Given the description of an element on the screen output the (x, y) to click on. 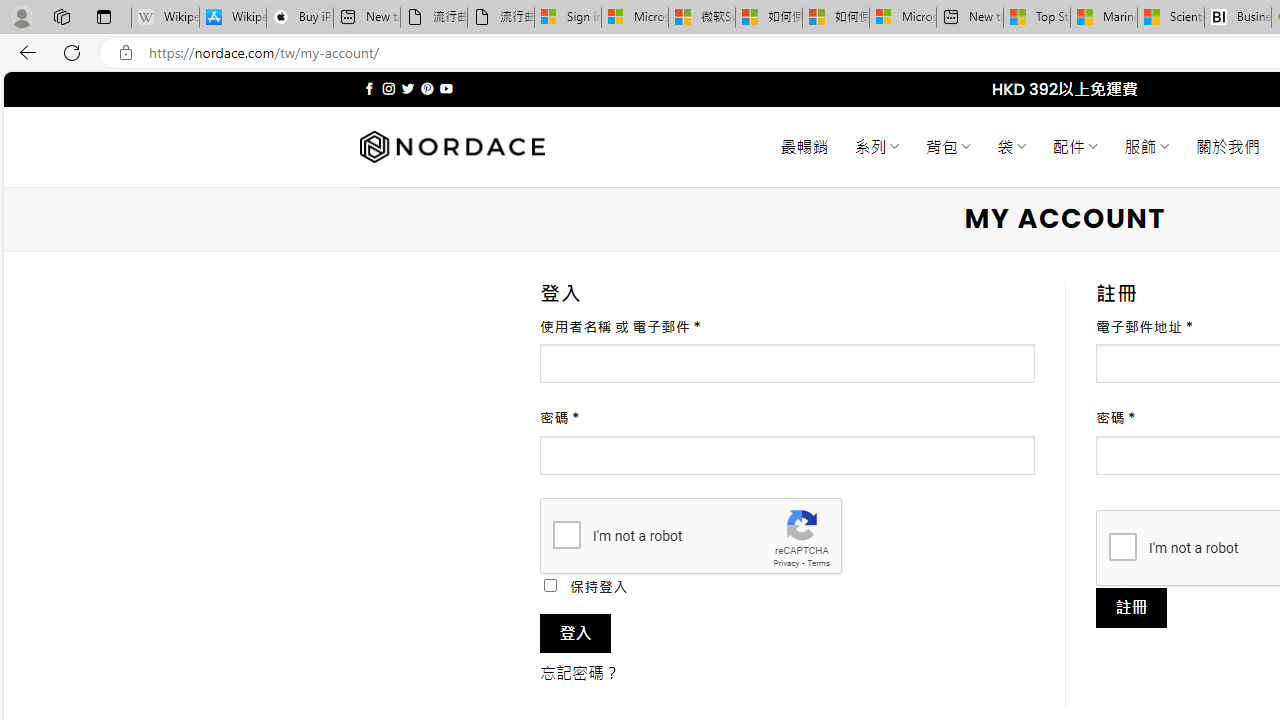
Marine life - MSN (1103, 17)
I'm not a robot (1122, 546)
Terms (818, 562)
